Given the description of an element on the screen output the (x, y) to click on. 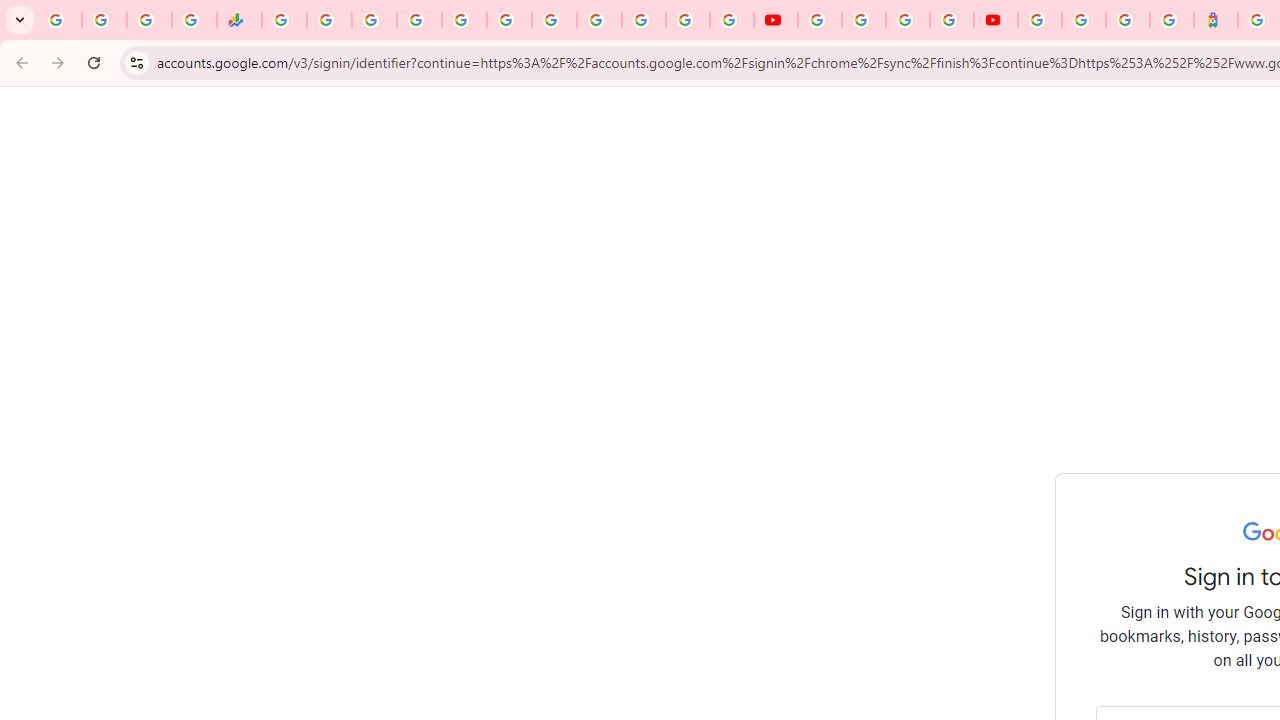
Google Account Help (863, 20)
